Given the description of an element on the screen output the (x, y) to click on. 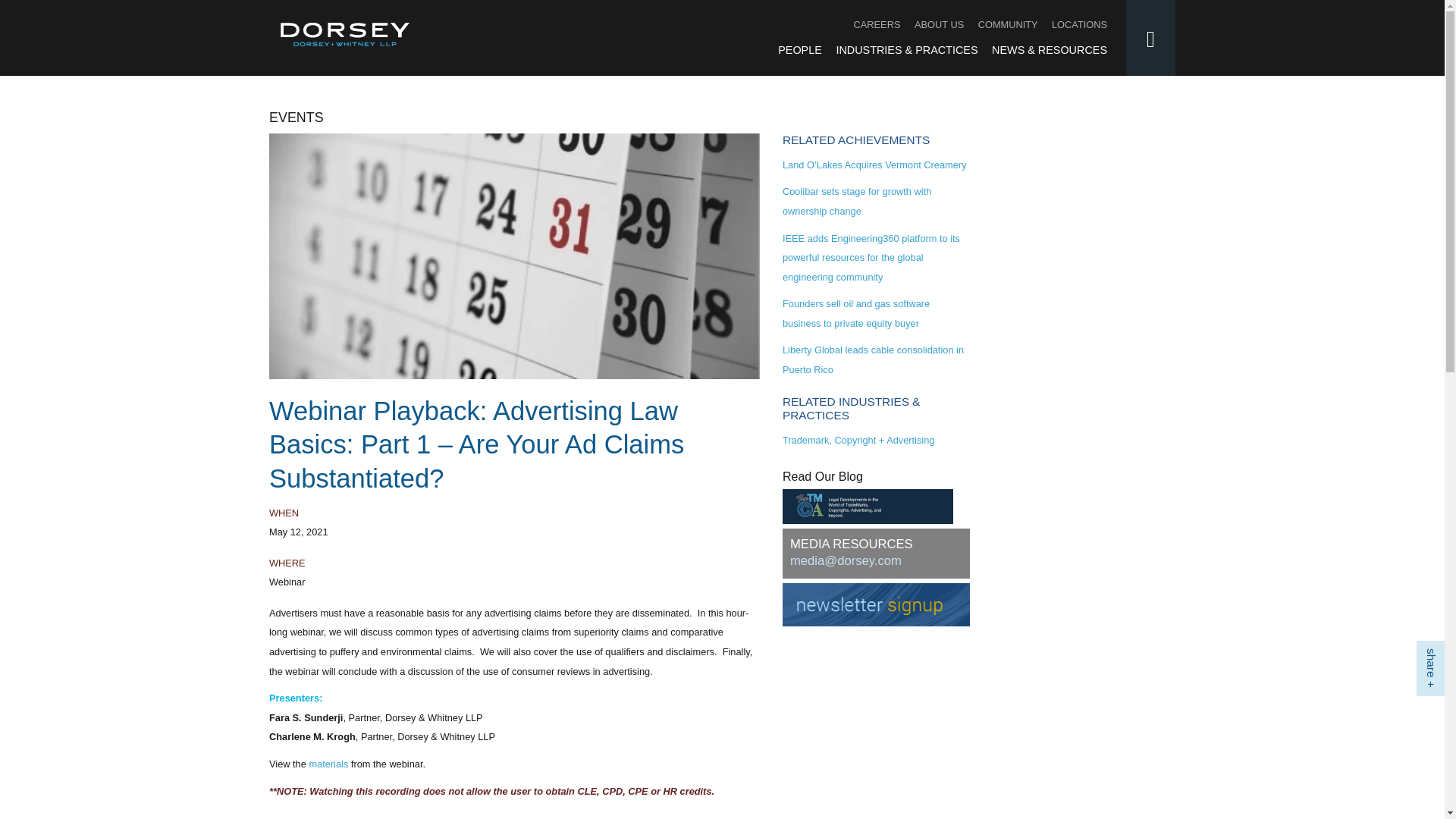
ABOUT US (938, 24)
materials (327, 763)
LOCATIONS (1078, 24)
PEOPLE (799, 50)
Liberty Global leads cable consolidation in Puerto Rico (873, 359)
Coolibar sets stage for growth with ownership change (857, 201)
YouTube video player (481, 813)
COMMUNITY (1008, 24)
